Given the description of an element on the screen output the (x, y) to click on. 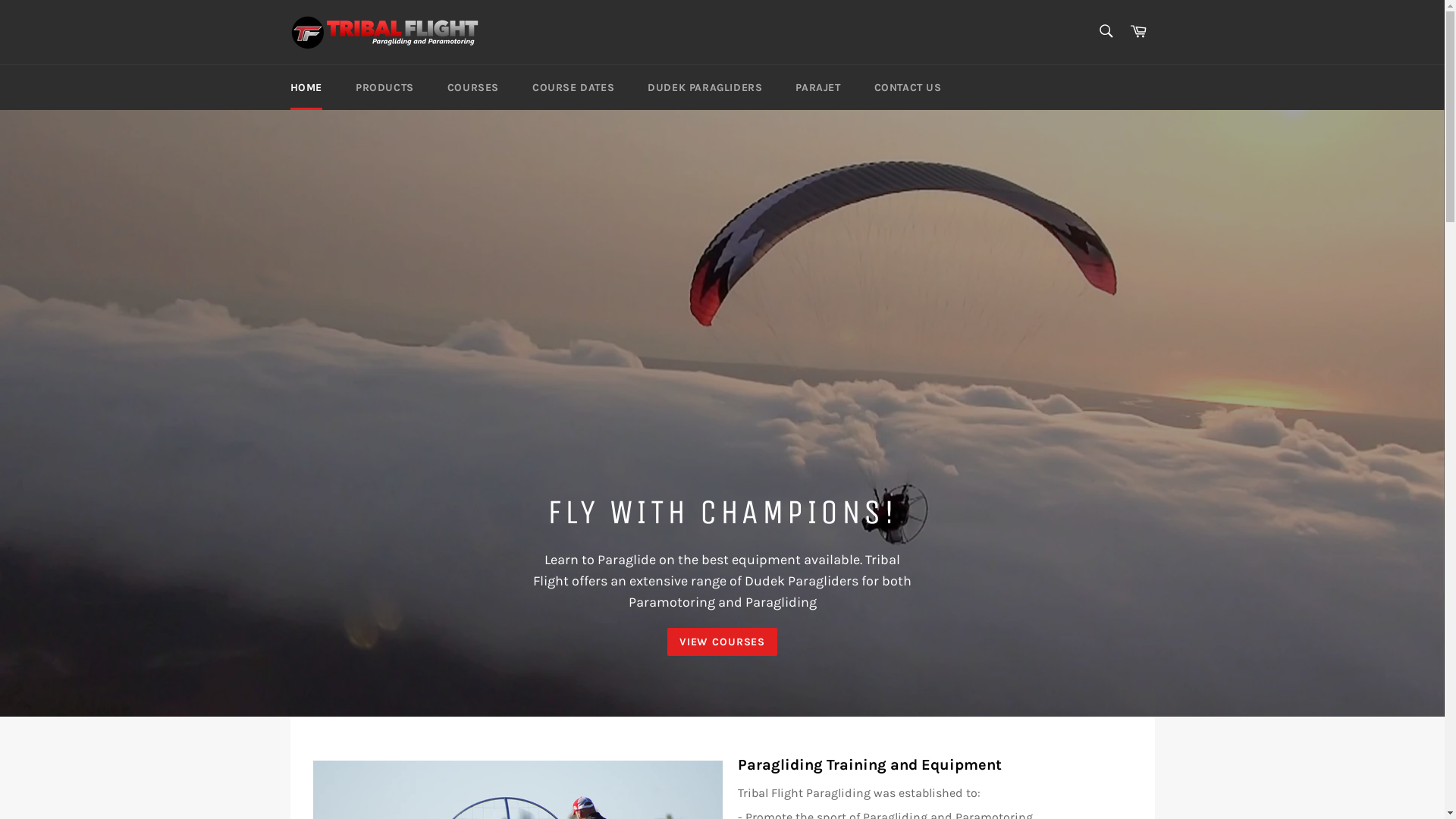
CONTACT US Element type: text (908, 87)
PRODUCTS Element type: text (384, 87)
COURSES Element type: text (473, 87)
HOME Element type: text (305, 87)
DUDEK PARAGLIDERS Element type: text (704, 87)
VIEW COURSES Element type: text (722, 641)
COURSE DATES Element type: text (573, 87)
Search Element type: text (1105, 31)
PARAJET Element type: text (817, 87)
Cart Element type: text (1138, 32)
